Given the description of an element on the screen output the (x, y) to click on. 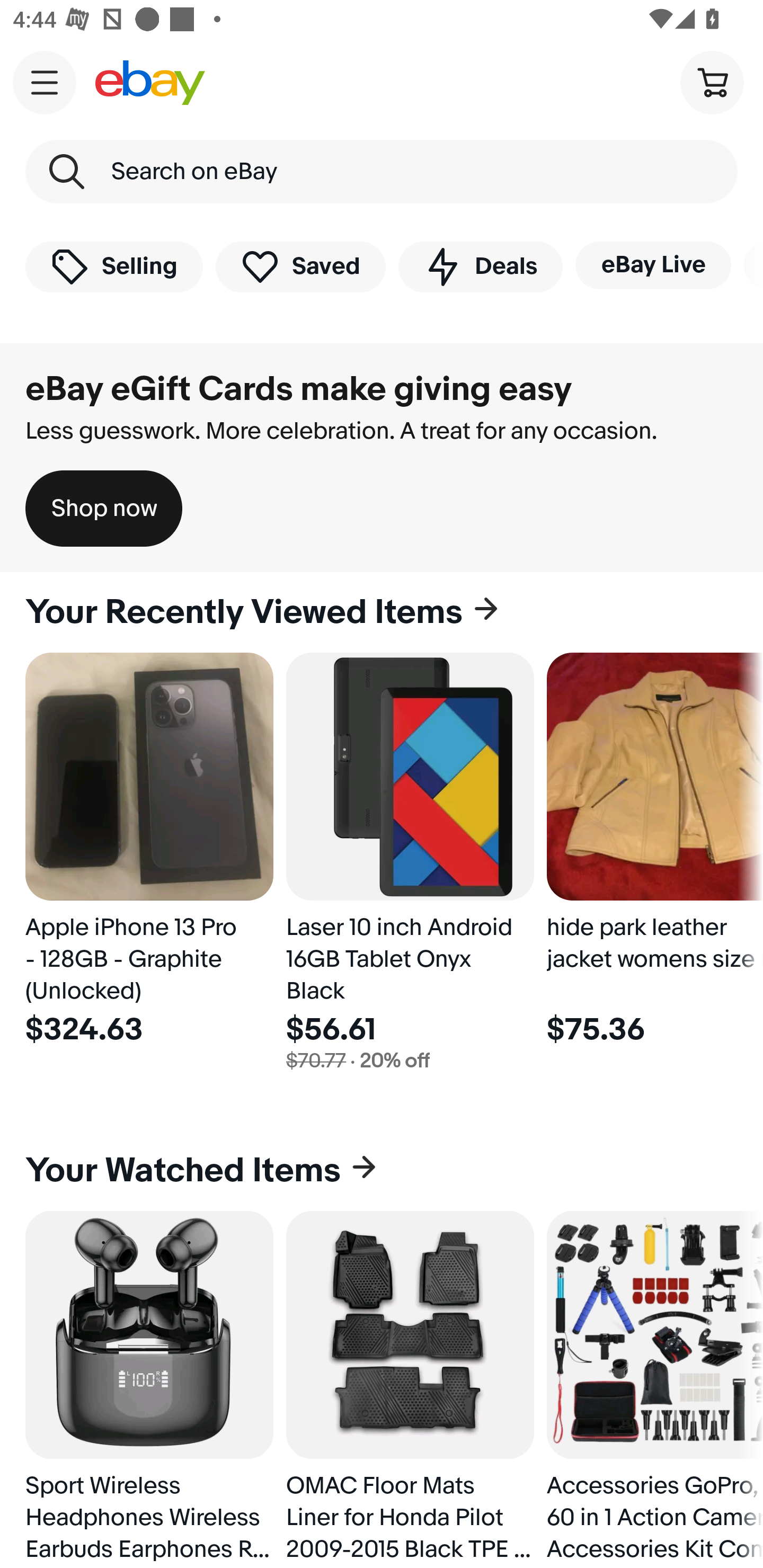
Main navigation, open (44, 82)
Cart button shopping cart (711, 81)
Search on eBay Search Keyword Search on eBay (381, 171)
Selling (113, 266)
Saved (300, 266)
Deals (480, 266)
eBay Live (652, 264)
eBay eGift Cards make giving easy (298, 389)
Shop now (103, 508)
Your Recently Viewed Items   (381, 612)
Your Watched Items   (381, 1170)
